Given the description of an element on the screen output the (x, y) to click on. 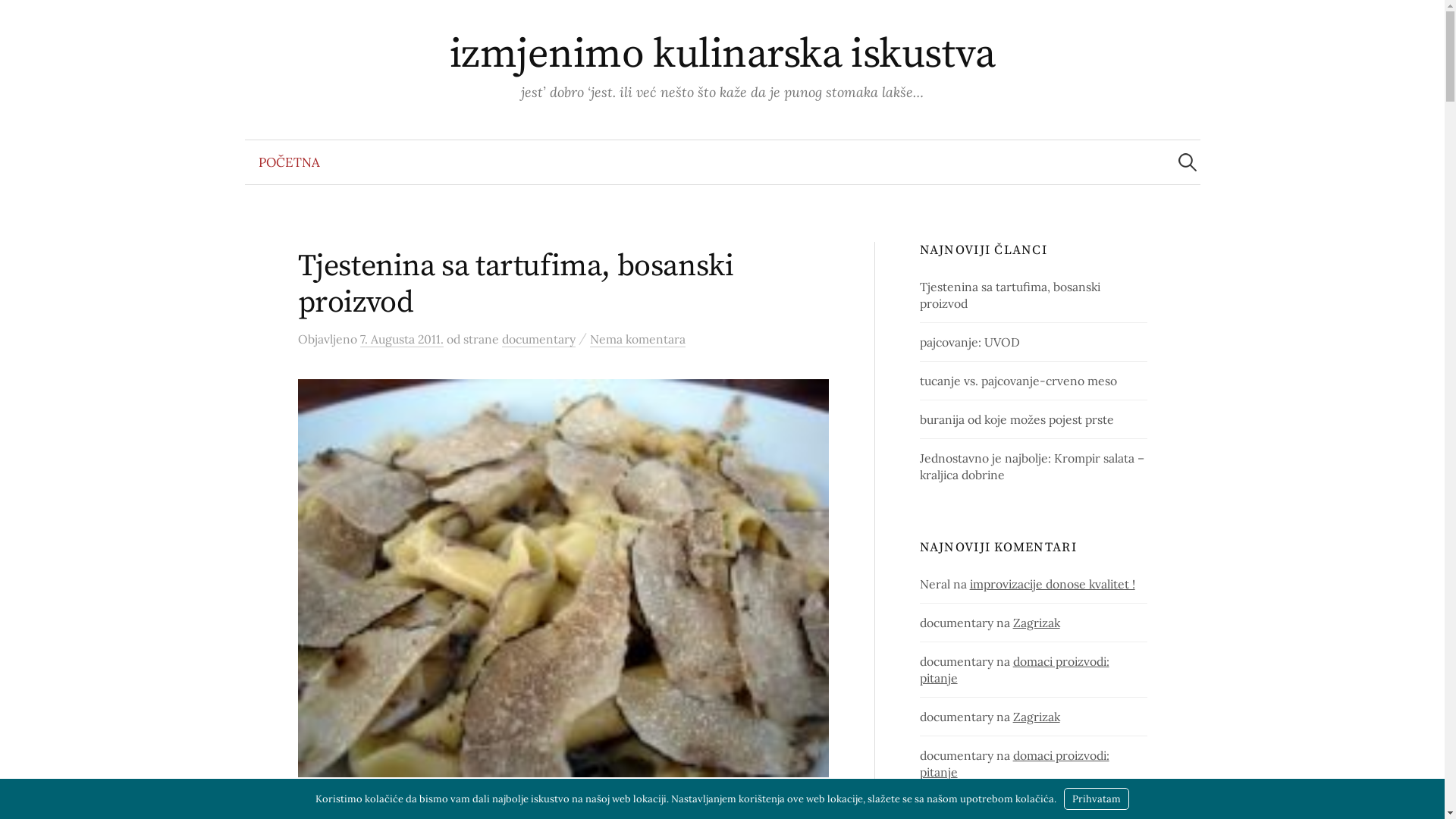
pajcovanje: UVOD Element type: text (969, 341)
tucanje vs. pajcovanje-crveno meso Element type: text (1018, 380)
Nema komentara
na Tjestenina sa tartufima, bosanski proizvod Element type: text (637, 339)
Tjestenina sa tartufima, bosanski proizvod Element type: text (1009, 294)
Prihvatam Element type: text (1096, 798)
domaci proizvodi: pitanje Element type: text (1014, 669)
Zagrizak Element type: text (1036, 622)
Tjestenina sa tartufima, bosanski proizvod Element type: text (515, 284)
Pretraga Element type: text (18, 18)
documentary Element type: text (538, 339)
Zagrizak Element type: text (1036, 716)
izmjenimo kulinarska iskustva Element type: text (721, 54)
improvizacije donose kvalitet ! Element type: text (1052, 583)
7. Augusta 2011. Element type: text (400, 339)
domaci proizvodi: pitanje Element type: text (1014, 763)
